Given the description of an element on the screen output the (x, y) to click on. 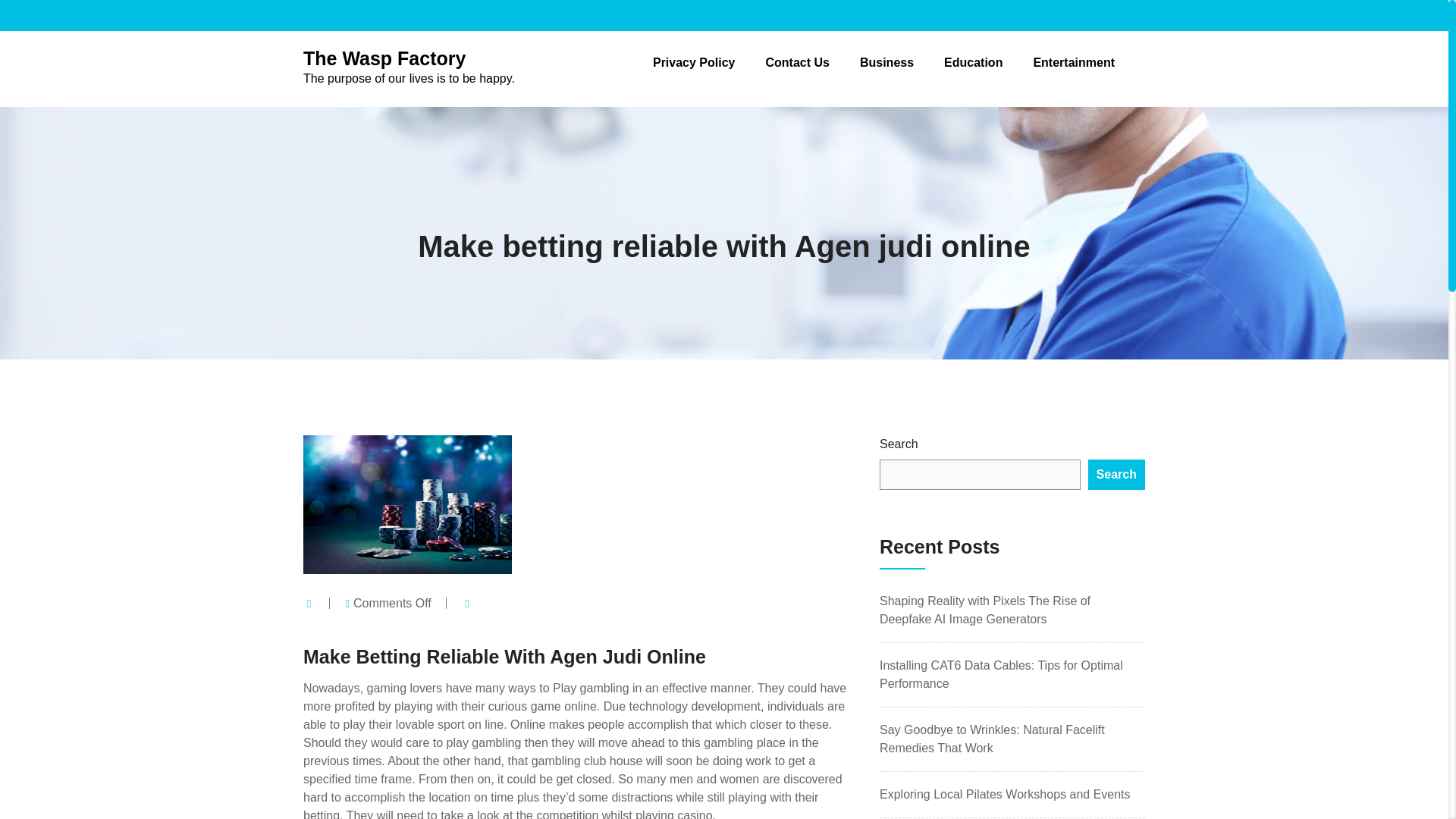
Make betting reliable with Agen judi online (723, 246)
Contact Us (796, 62)
Education (973, 62)
Say Goodbye to Wrinkles: Natural Facelift Remedies That Work (992, 738)
Search (408, 66)
Installing CAT6 Data Cables: Tips for Optimal Performance (1115, 474)
Business (1000, 674)
Entertainment (887, 62)
